Given the description of an element on the screen output the (x, y) to click on. 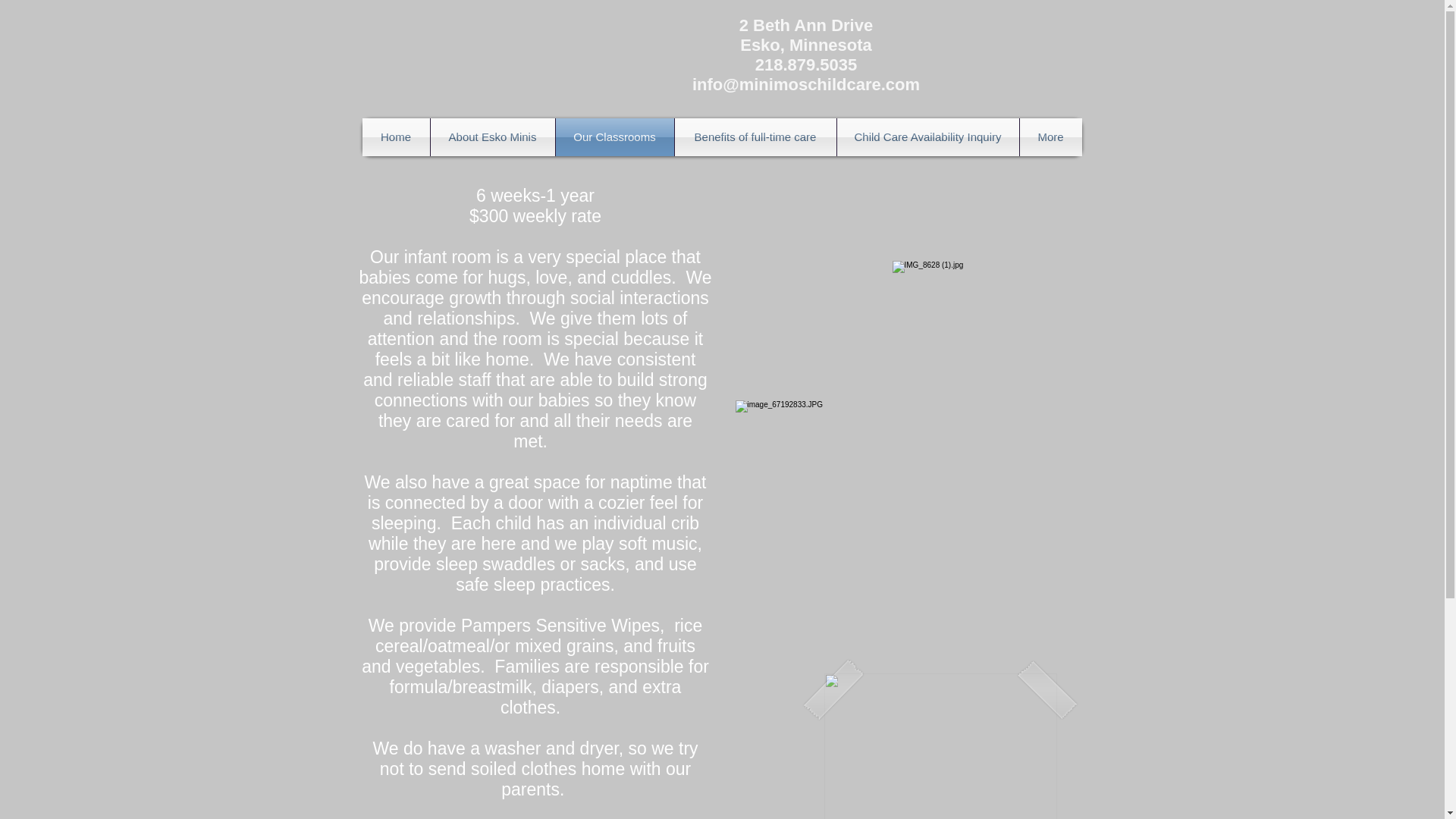
About Esko Minis (492, 136)
Home (395, 136)
Child Care Availability Inquiry (928, 136)
Our Classrooms (613, 136)
Benefits of full-time care (755, 136)
